Given the description of an element on the screen output the (x, y) to click on. 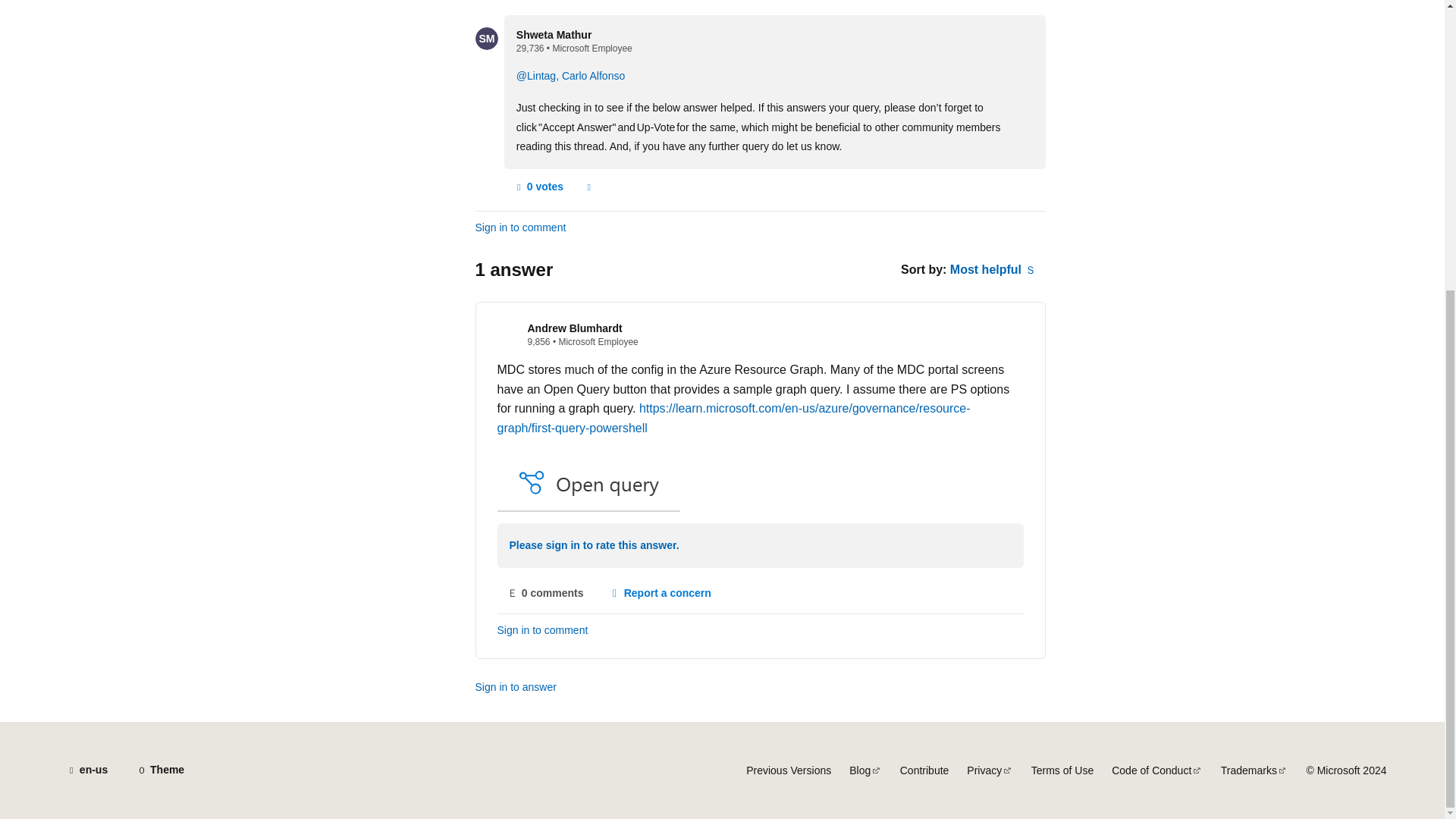
Sign in to comment (542, 630)
0 votes (538, 187)
Shweta Mathur (554, 34)
Andrew Blumhardt (575, 328)
No comments (545, 593)
Sign in to comment (520, 228)
Please sign in to rate this answer. (594, 546)
Reputation points (530, 48)
This comment is helpful (538, 187)
Report a concern (588, 187)
